Given the description of an element on the screen output the (x, y) to click on. 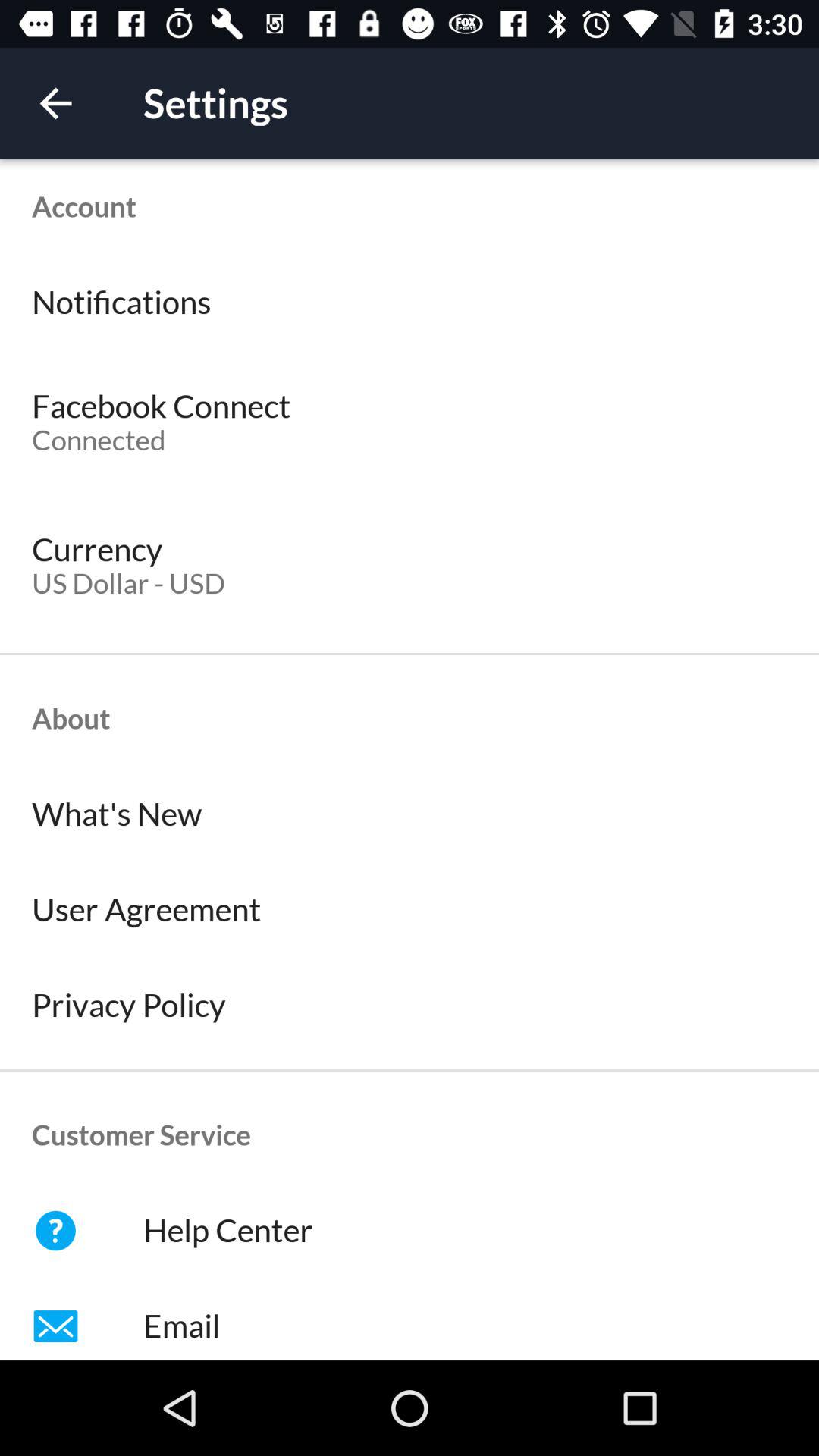
flip until what's new (409, 814)
